Given the description of an element on the screen output the (x, y) to click on. 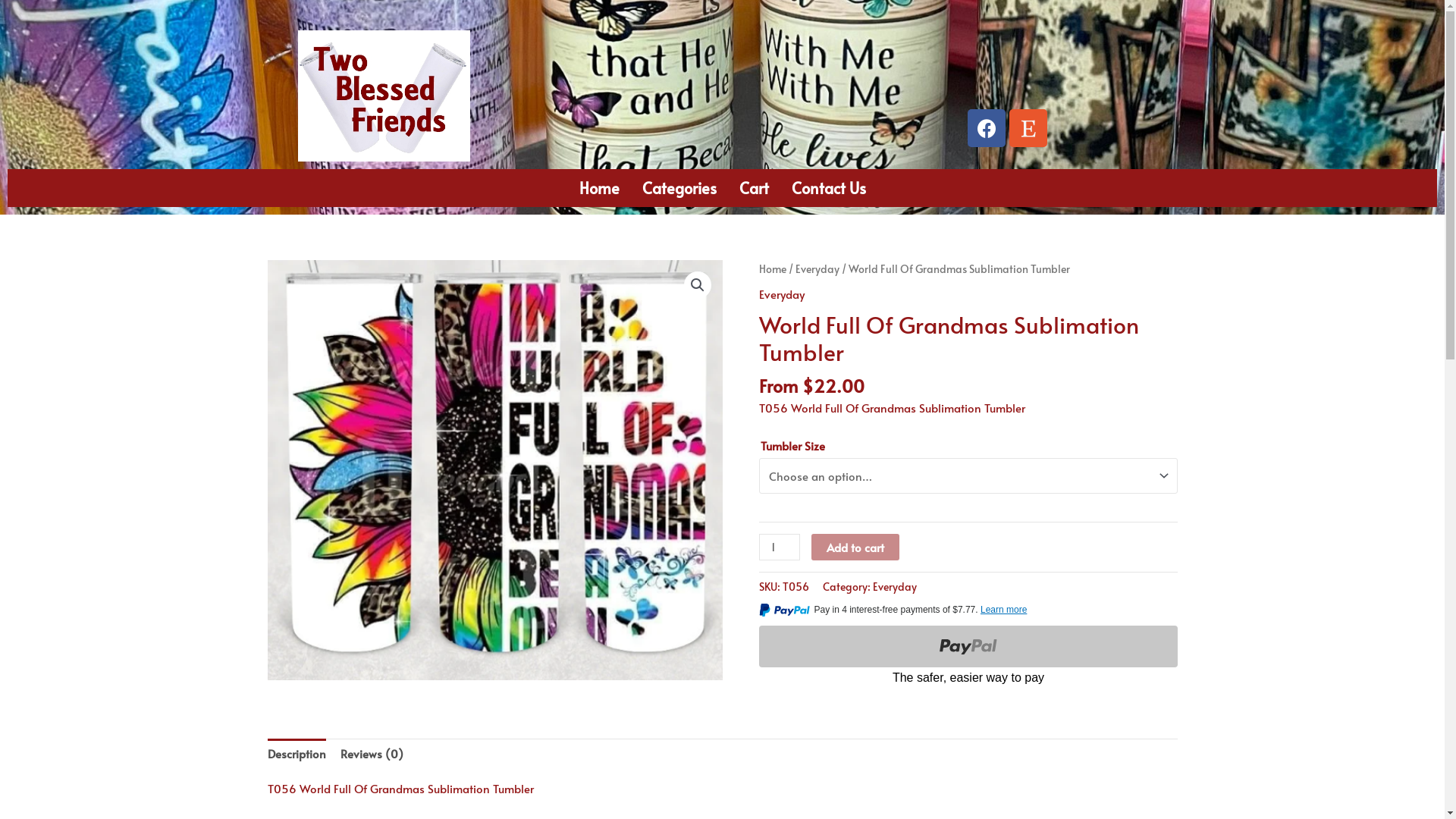
Reviews (0) Element type: text (370, 753)
PayPal Element type: hover (967, 656)
Home Element type: text (771, 268)
Everyday Element type: text (894, 586)
Everyday Element type: text (780, 293)
Description Element type: text (295, 753)
Contact Us Element type: text (827, 188)
Facebook Element type: text (986, 128)
T056 World Full Of Grandmas Sublimation Tumbler Element type: hover (493, 470)
Cart Element type: text (754, 188)
Etsy Element type: text (1028, 128)
Categories Element type: text (679, 188)
Add to cart Element type: text (855, 546)
Home Element type: text (598, 188)
PayPal Message 1 Element type: hover (967, 612)
Everyday Element type: text (816, 268)
